Given the description of an element on the screen output the (x, y) to click on. 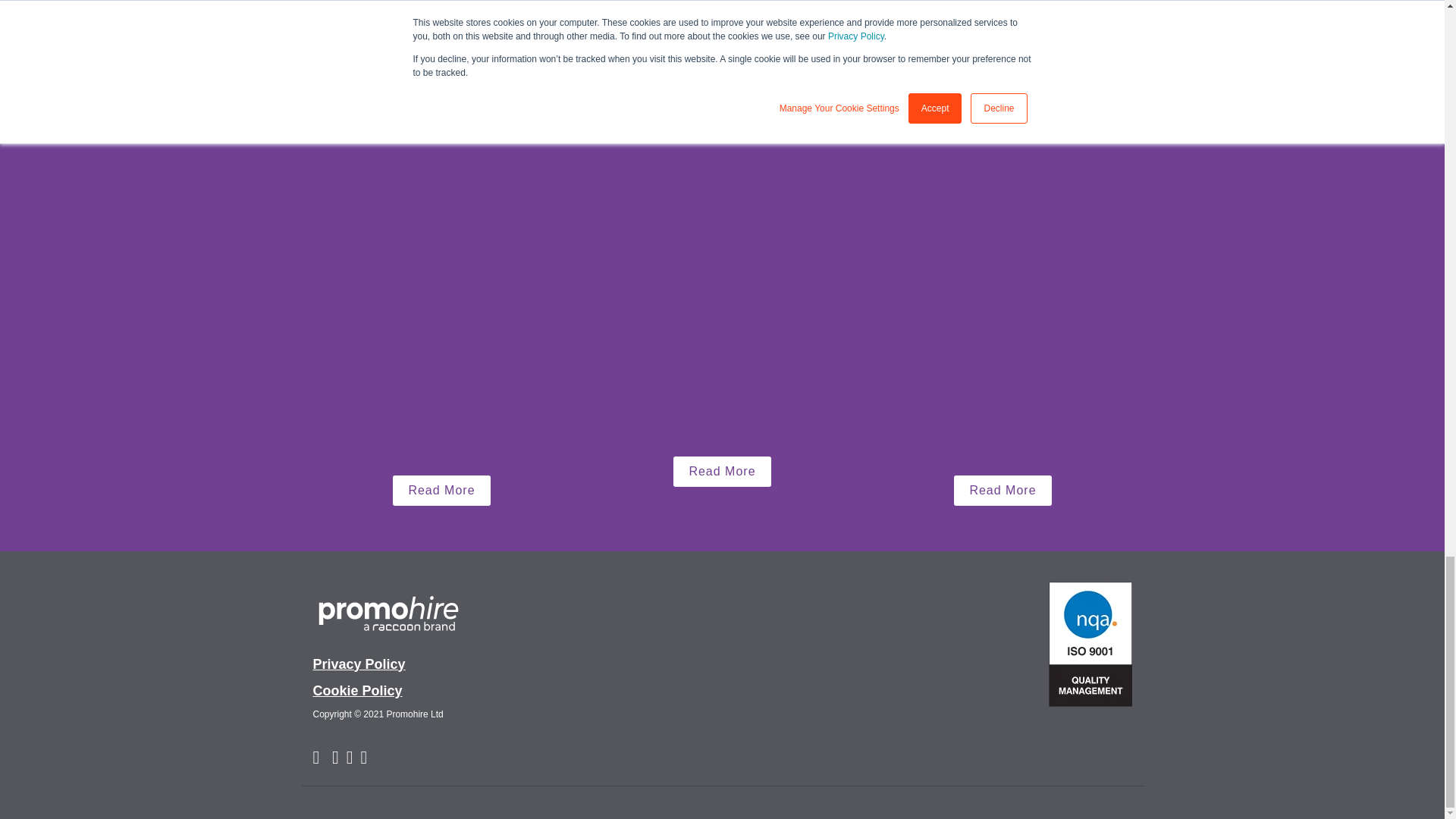
Read More (721, 471)
Read More (441, 490)
Read More (1002, 490)
